Given the description of an element on the screen output the (x, y) to click on. 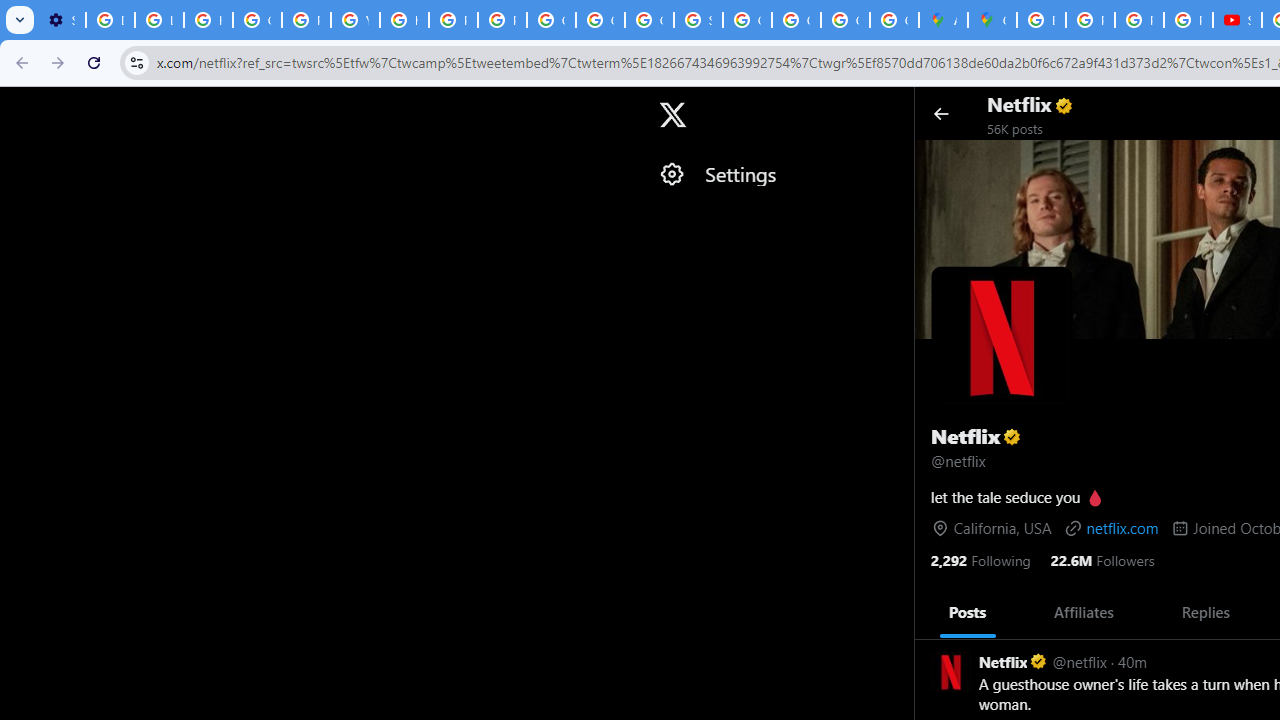
Skip to home timeline (17, 105)
Privacy Help Center - Policies Help (1090, 20)
Square profile picture and Opens profile photo (1002, 336)
Square profile picture and Opens profile photo (1001, 336)
Sign in - Google Accounts (698, 20)
https://scholar.google.com/ (404, 20)
Square profile picture (950, 671)
